Given the description of an element on the screen output the (x, y) to click on. 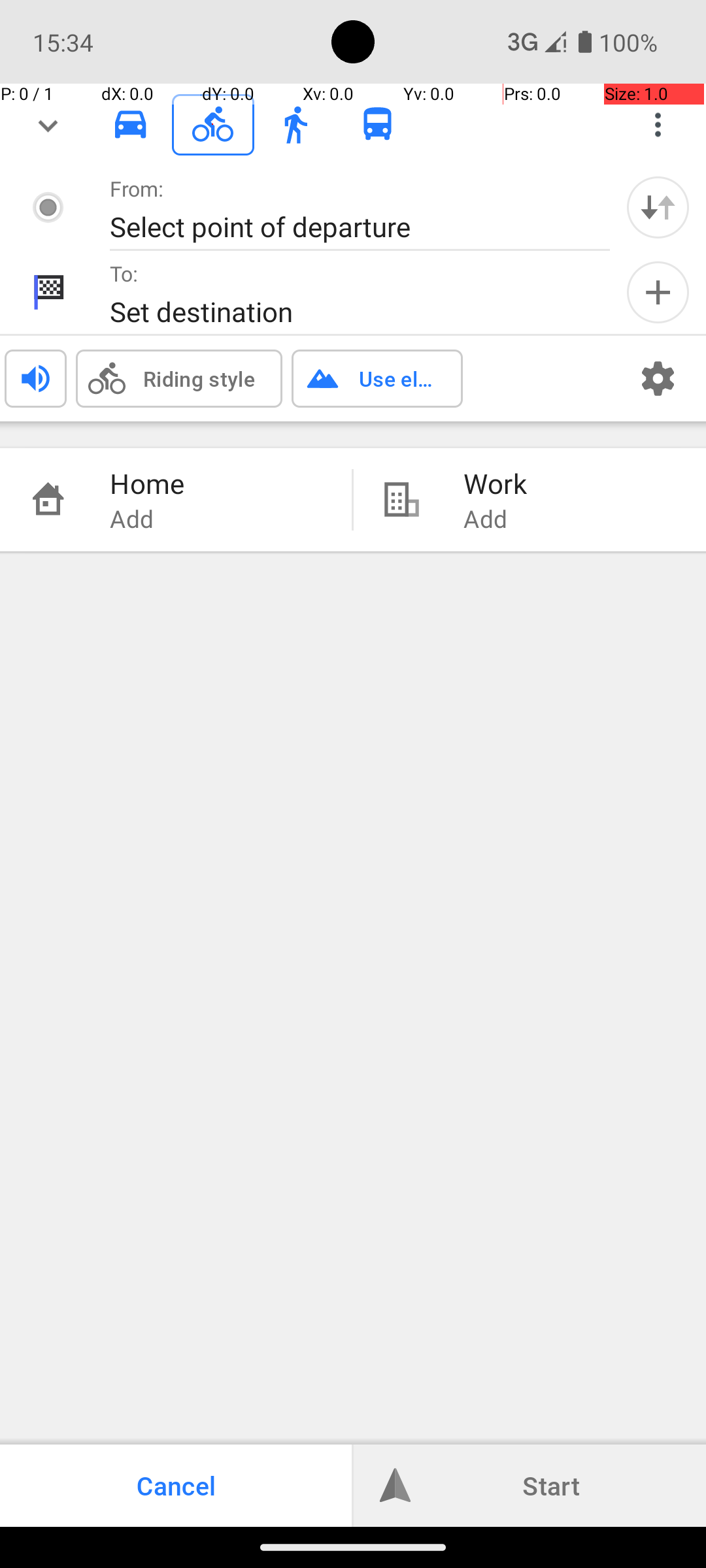
fold/unfold Element type: android.widget.ImageView (48, 124)
Choose app modes Element type: android.widget.ImageView (657, 124)
Driving Element type: android.widget.FrameLayout (130, 124)
Cycling Element type: android.widget.FrameLayout (212, 124)
Walking Element type: android.widget.FrameLayout (295, 124)
Public transport Element type: android.widget.FrameLayout (377, 124)
From: Element type: android.widget.TextView (136, 188)
Select point of departure Element type: android.widget.TextView (345, 226)
Swap Element type: android.widget.FrameLayout (657, 207)
To: Element type: android.widget.TextView (123, 273)
Set destination Element type: android.widget.TextView (345, 310)
Add Element type: android.widget.FrameLayout (657, 292)
Driving unchecked Element type: android.widget.ImageView (130, 124)
Cycling checked Element type: android.widget.ImageView (212, 124)
Walking unchecked Element type: android.widget.ImageView (294, 124)
Public transport unchecked Element type: android.widget.ImageView (377, 124)
Riding style Element type: android.widget.TextView (198, 378)
Use elevation data Element type: android.widget.TextView (396, 378)
